Given the description of an element on the screen output the (x, y) to click on. 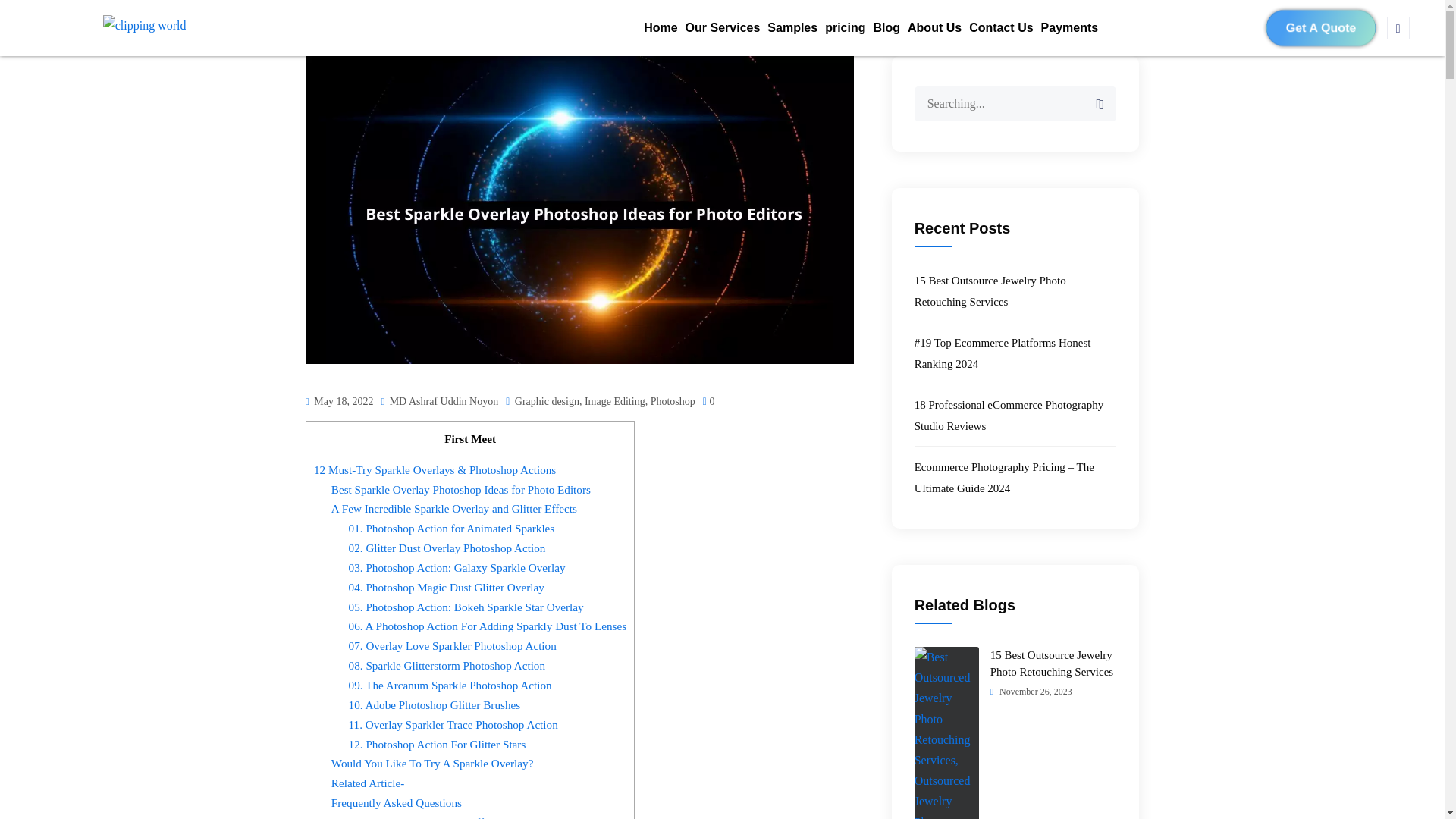
Blog (886, 27)
pricing (845, 27)
Payments (1069, 27)
About Us (934, 27)
Home (660, 27)
Our Services (722, 27)
Contact Us (1000, 27)
Samples (791, 27)
